Given the description of an element on the screen output the (x, y) to click on. 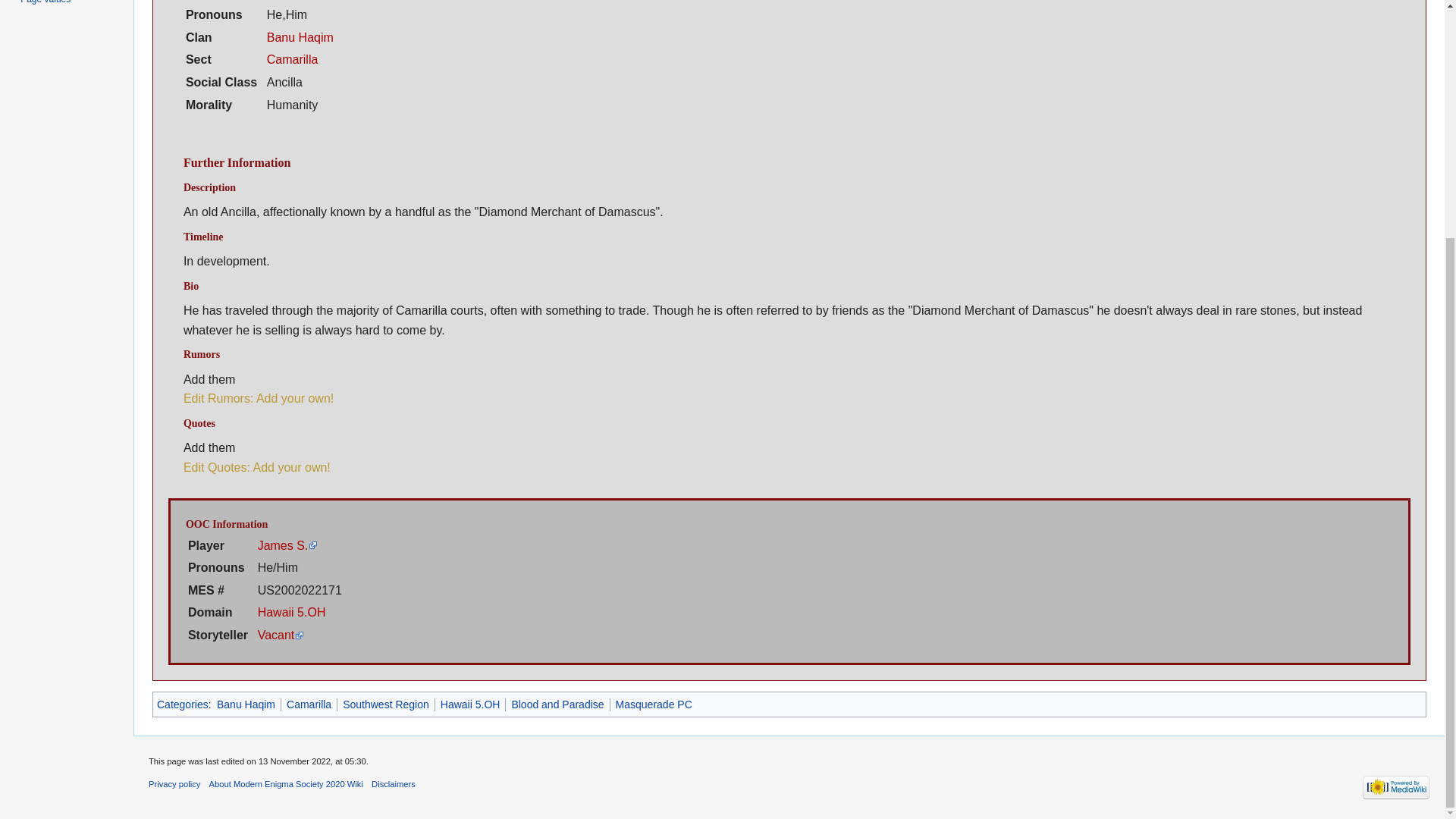
Vacant (280, 634)
Category:Masquerade PC (654, 704)
Category:Camarilla (292, 59)
Edit Rumors: Add your own! (258, 398)
Edit Quotes: Add your own! (256, 467)
Hawaii 5.OH (291, 612)
Banu Haqim (245, 704)
Camarilla (308, 704)
James S. (287, 545)
Masquerade PC (654, 704)
Camarilla (292, 59)
Category:Banu Haqim (245, 704)
Category:Camarilla (308, 704)
Hawaii 5.OH (470, 704)
Privacy policy (174, 783)
